Given the description of an element on the screen output the (x, y) to click on. 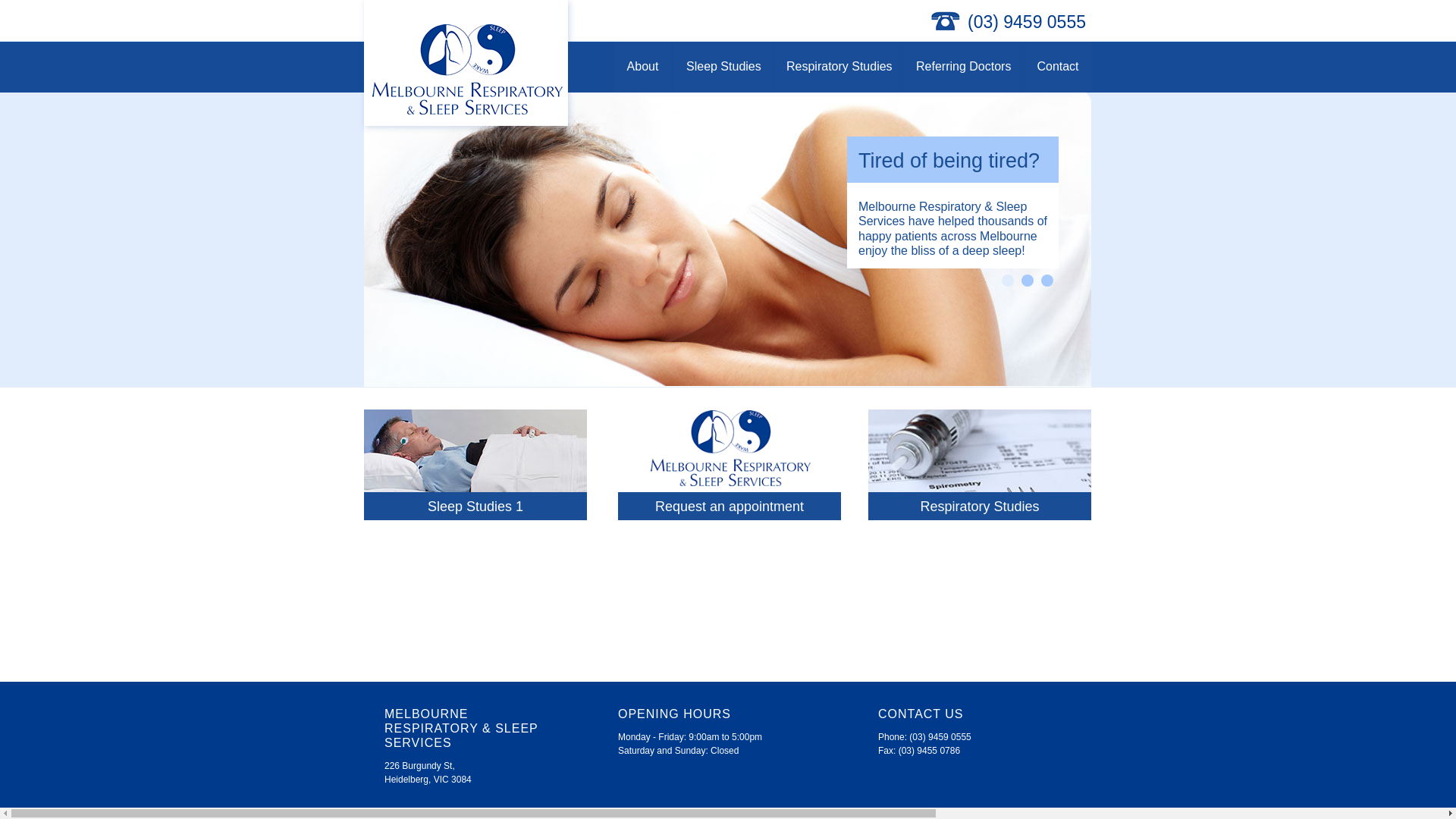
Request an appointment Element type: text (729, 507)
Respiratory Studies Element type: text (979, 507)
Referring Doctors Element type: text (962, 65)
Sleep Studies Element type: text (722, 65)
Respiratory Studies Element type: text (837, 65)
Contact Element type: text (1057, 65)
CONTACT US Element type: text (959, 715)
About Element type: text (642, 65)
Phone Melbourne Respiratory and Sleep Services Element type: hover (945, 20)
Sleep Studies at Melbourne Respiratory and Sleep Services Element type: hover (475, 462)
